Given the description of an element on the screen output the (x, y) to click on. 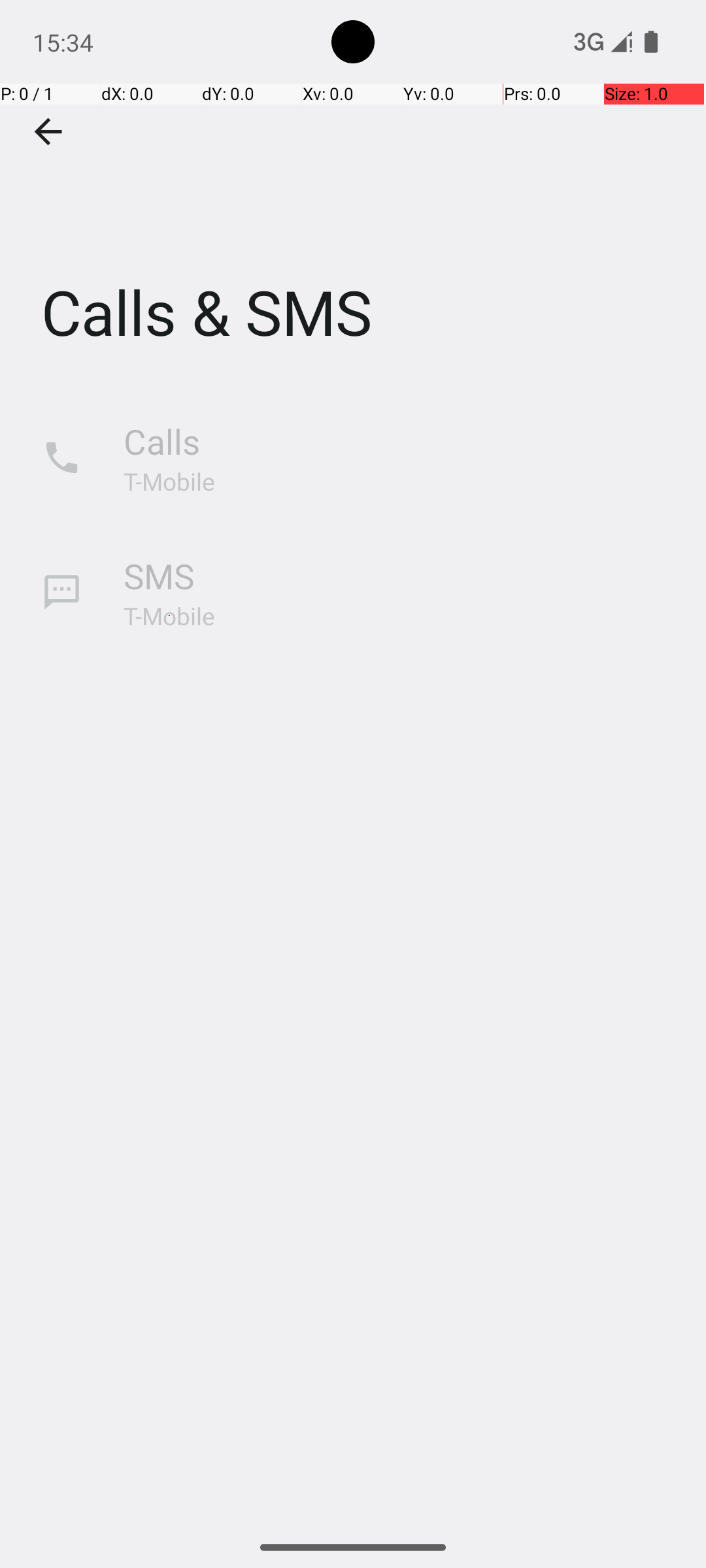
Calls Element type: android.widget.TextView (161, 441)
